Given the description of an element on the screen output the (x, y) to click on. 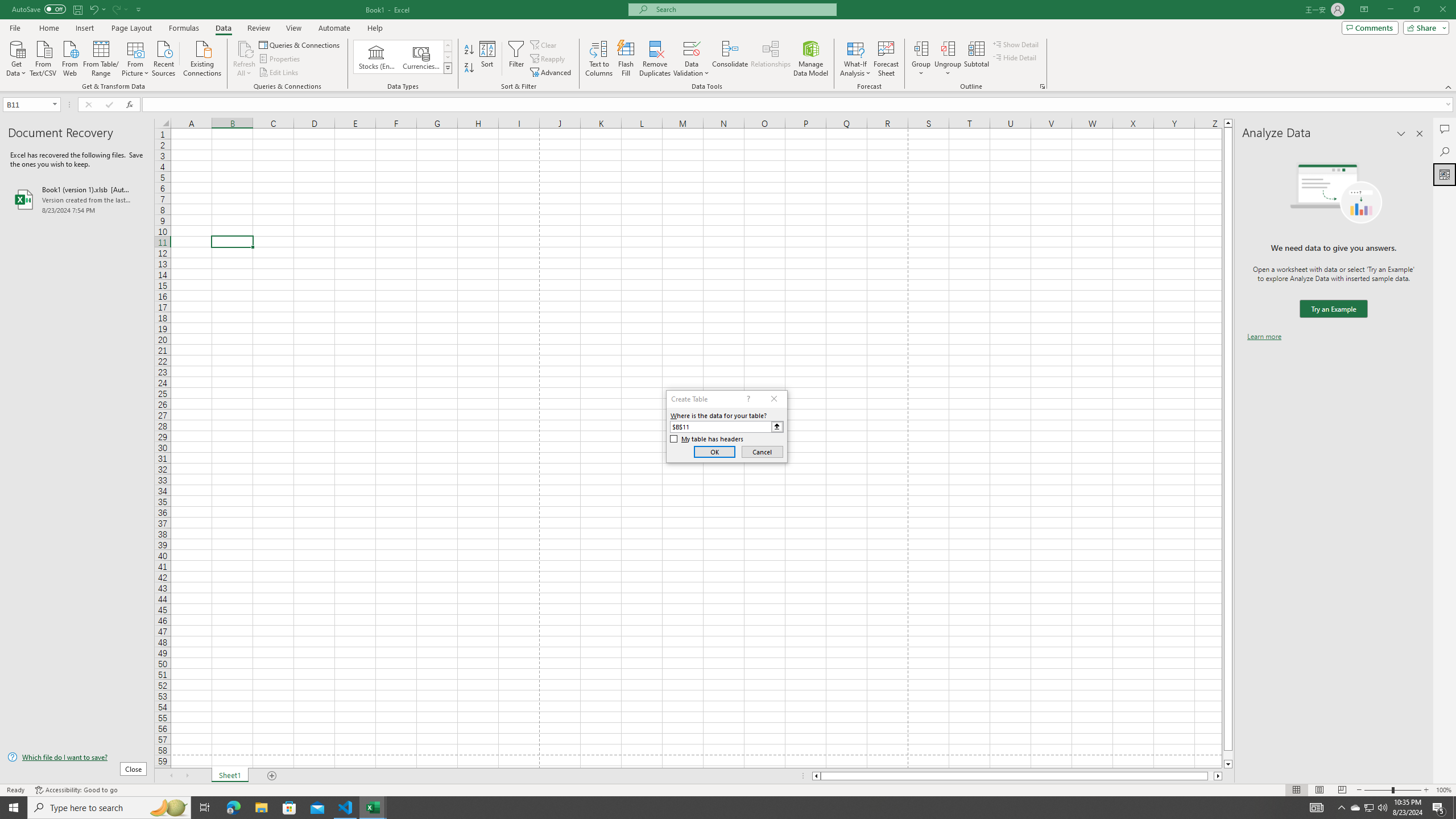
Quick Access Toolbar (77, 9)
Share (1423, 27)
Close pane (1419, 133)
Sort... (487, 58)
More Options (947, 68)
Sort A to Z (469, 49)
Home (48, 28)
Reapply (548, 58)
Redo (119, 9)
Accessibility Checker Accessibility: Good to go (76, 790)
Edit Links (279, 72)
Remove Duplicates (654, 58)
File Tab (15, 27)
Properties (280, 58)
